Given the description of an element on the screen output the (x, y) to click on. 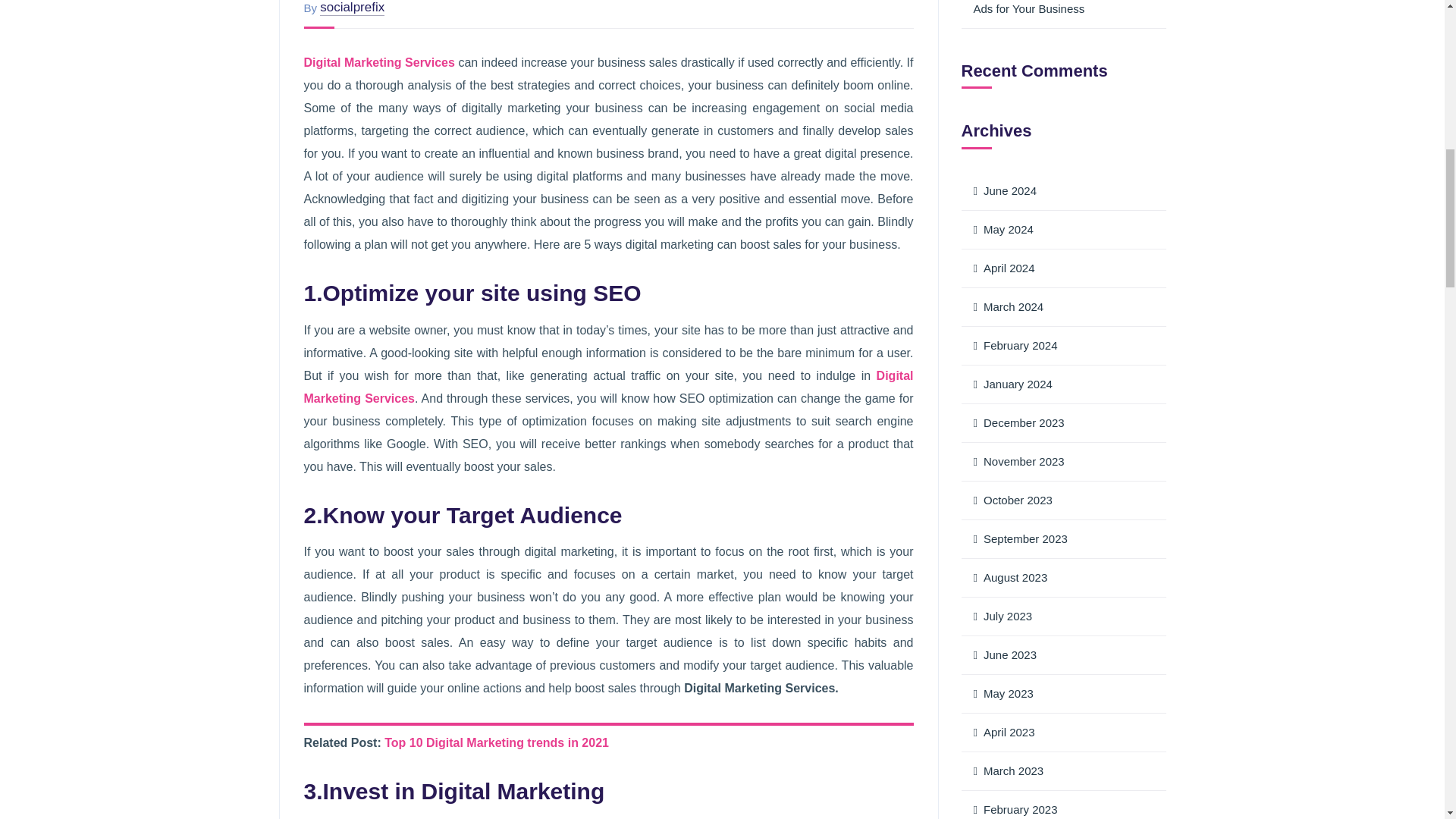
December 2023 (1063, 422)
socialprefix (352, 7)
March 2024 (1063, 307)
Top 10 Digital Marketing trends in 2021 (496, 742)
Posts by socialprefix (352, 7)
January 2024 (1063, 384)
May 2024 (1063, 229)
Digital Marketing Services (378, 62)
Digital Marketing Services (607, 386)
February 2024 (1063, 344)
